Given the description of an element on the screen output the (x, y) to click on. 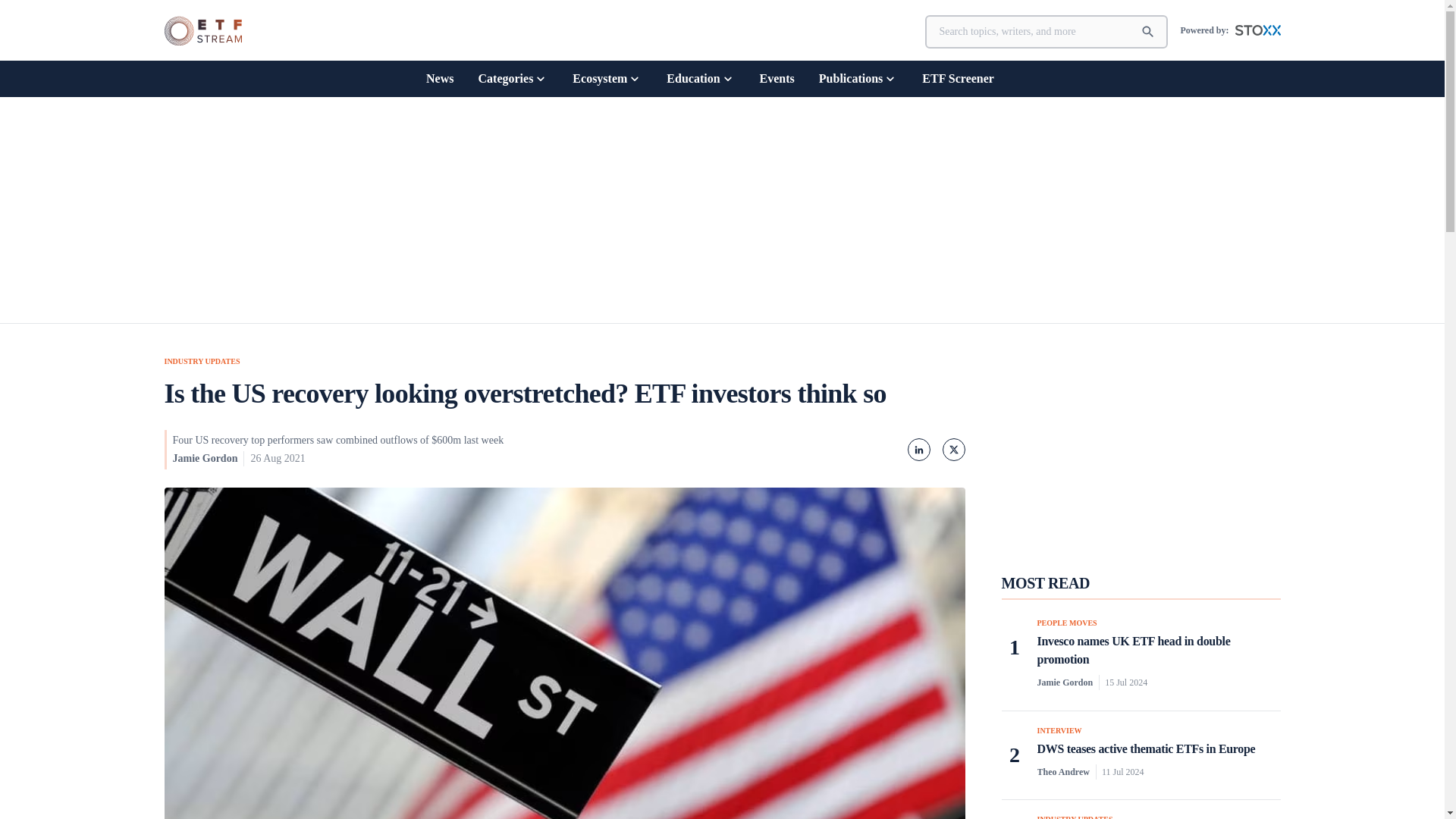
Jamie Gordon (205, 458)
ETF Screener (957, 78)
Education (700, 78)
3rd party ad content (1139, 448)
Events (777, 78)
News (439, 78)
